Given the description of an element on the screen output the (x, y) to click on. 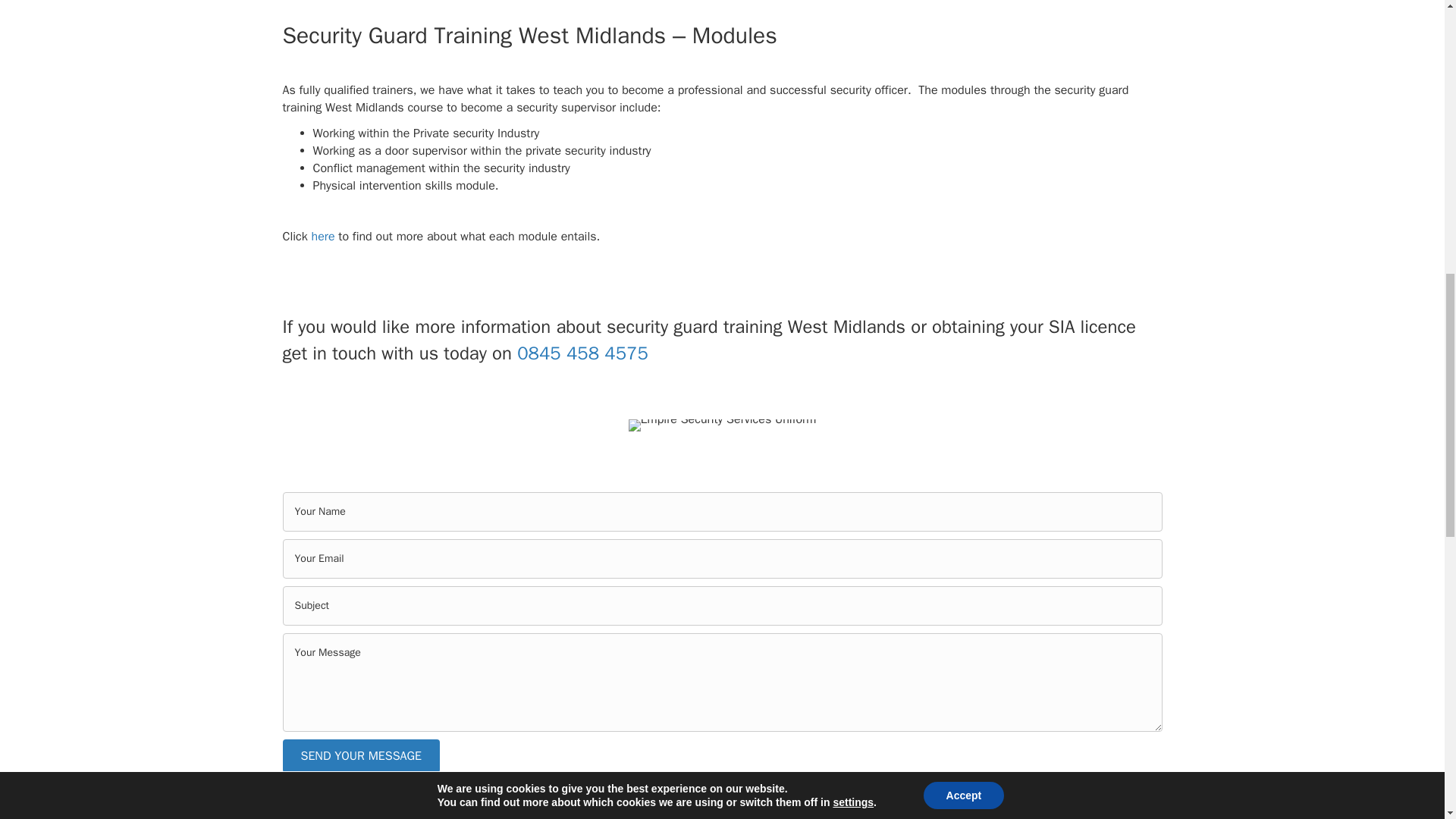
0845 458 4575 (581, 353)
Empire Security (722, 424)
SEND YOUR MESSAGE (360, 756)
here (320, 236)
